Given the description of an element on the screen output the (x, y) to click on. 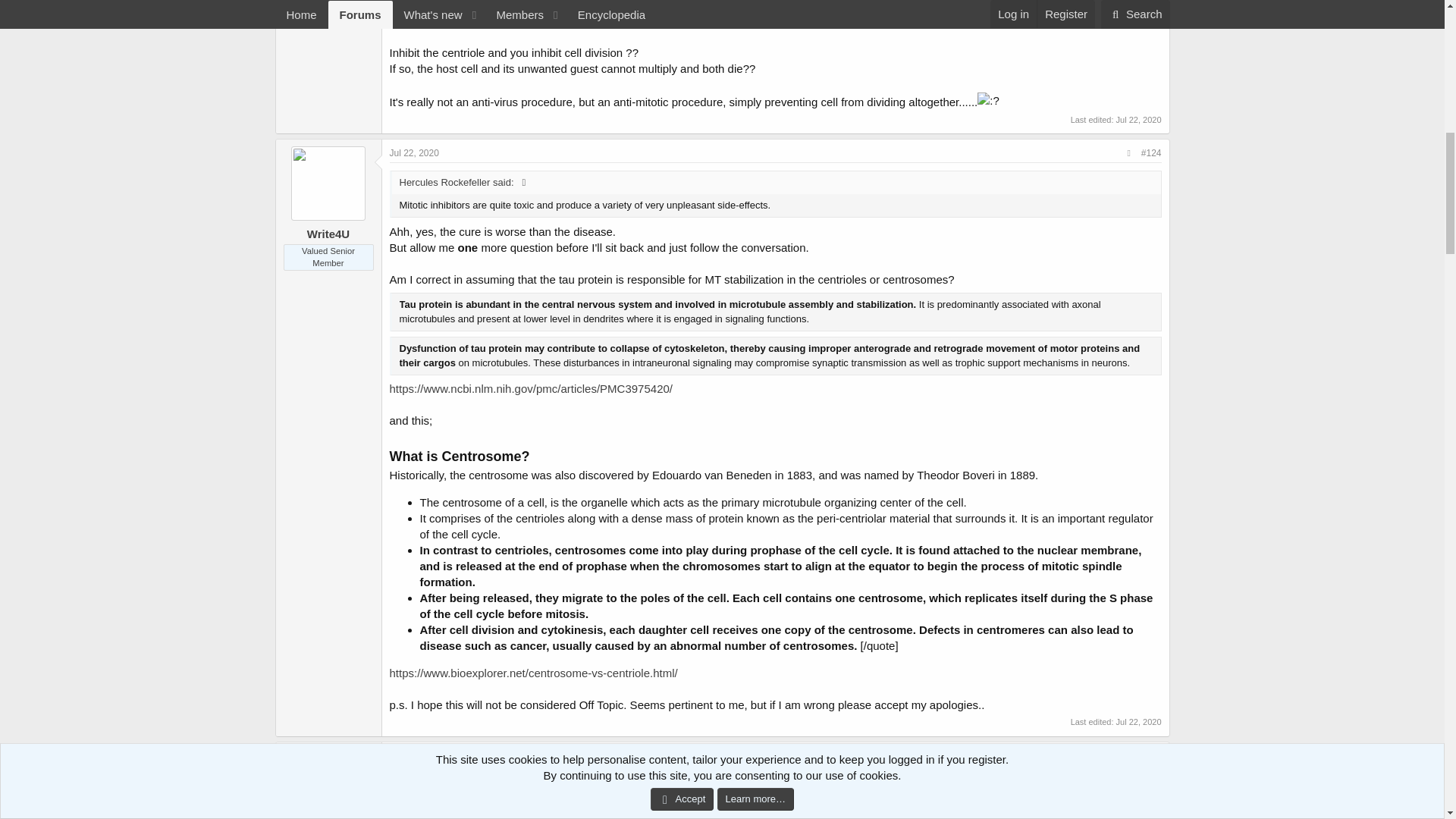
Jul 22, 2020 at 10:03 AM (1138, 721)
Jul 22, 2020 at 9:48 AM (414, 153)
Jul 22, 2020 at 9:39 AM (1138, 119)
Jul 22, 2020 at 11:22 AM (414, 756)
Confused    :? (987, 100)
